Given the description of an element on the screen output the (x, y) to click on. 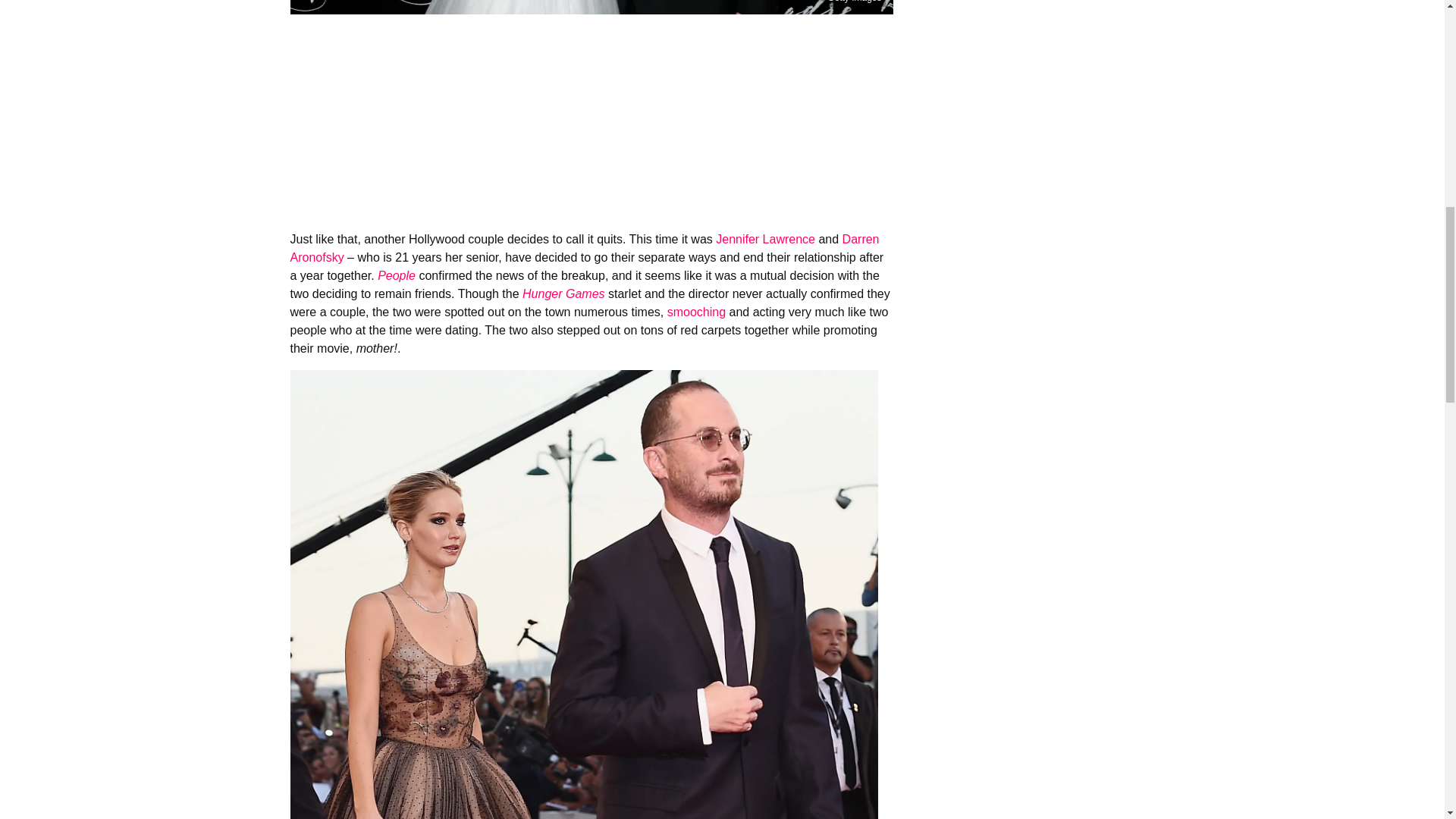
smooching (695, 311)
Jennifer Lawrence (765, 238)
Hunger Games (563, 293)
People (395, 275)
Darren Aronofsky (584, 247)
